Given the description of an element on the screen output the (x, y) to click on. 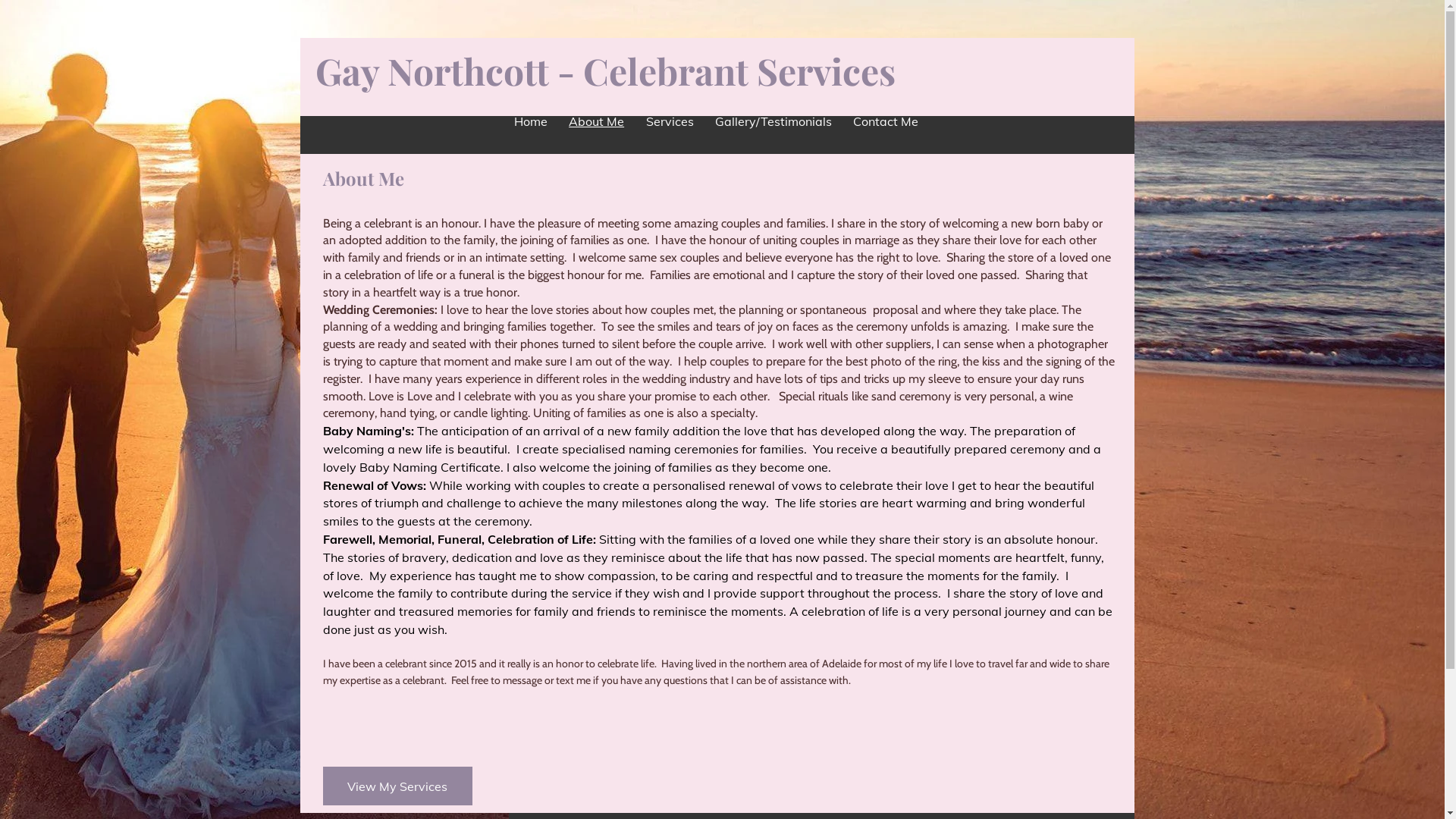
About Me Element type: text (596, 120)
Gallery/Testimonials Element type: text (773, 120)
View My Services Element type: text (397, 785)
Home Element type: text (530, 120)
Services Element type: text (668, 120)
Contact Me Element type: text (885, 120)
